Given the description of an element on the screen output the (x, y) to click on. 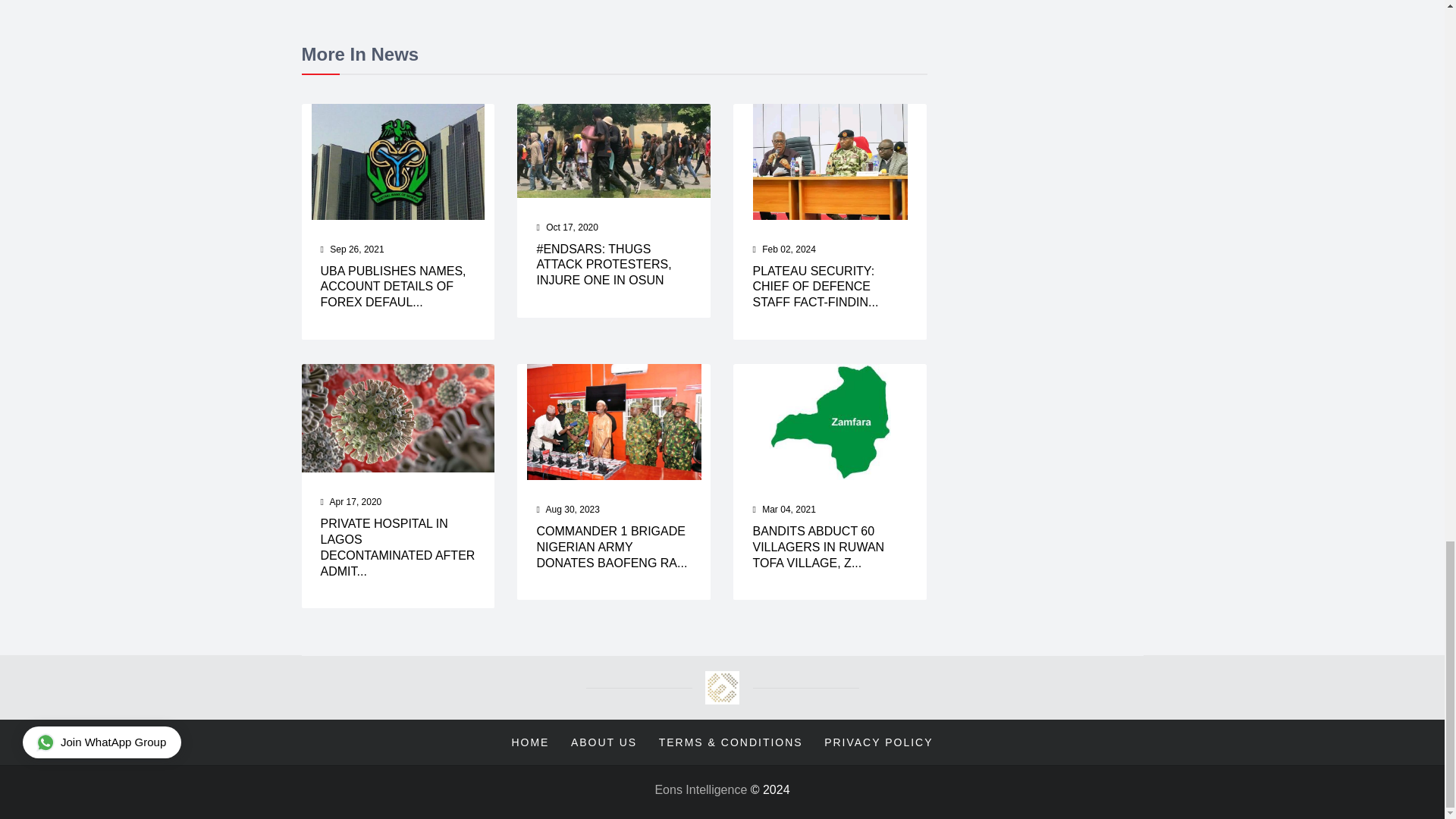
Oct 17, 2020 (572, 226)
Aug 30, 2023 (572, 509)
PLATEAU SECURITY: CHIEF OF DEFENCE STAFF FACT-FINDIN... (814, 286)
Apr 17, 2020 (355, 501)
Sep 26, 2021 (357, 249)
UBA PUBLISHES NAMES, ACCOUNT DETAILS OF FOREX DEFAUL... (392, 286)
Feb 02, 2024 (788, 249)
Advertisement (613, 17)
BANDITS ABDUCT 60 VILLAGERS IN RUWAN TOFA VILLAGE, Z... (817, 546)
COMMANDER 1 BRIGADE NIGERIAN ARMY DONATES BAOFENG RA... (611, 546)
